Given the description of an element on the screen output the (x, y) to click on. 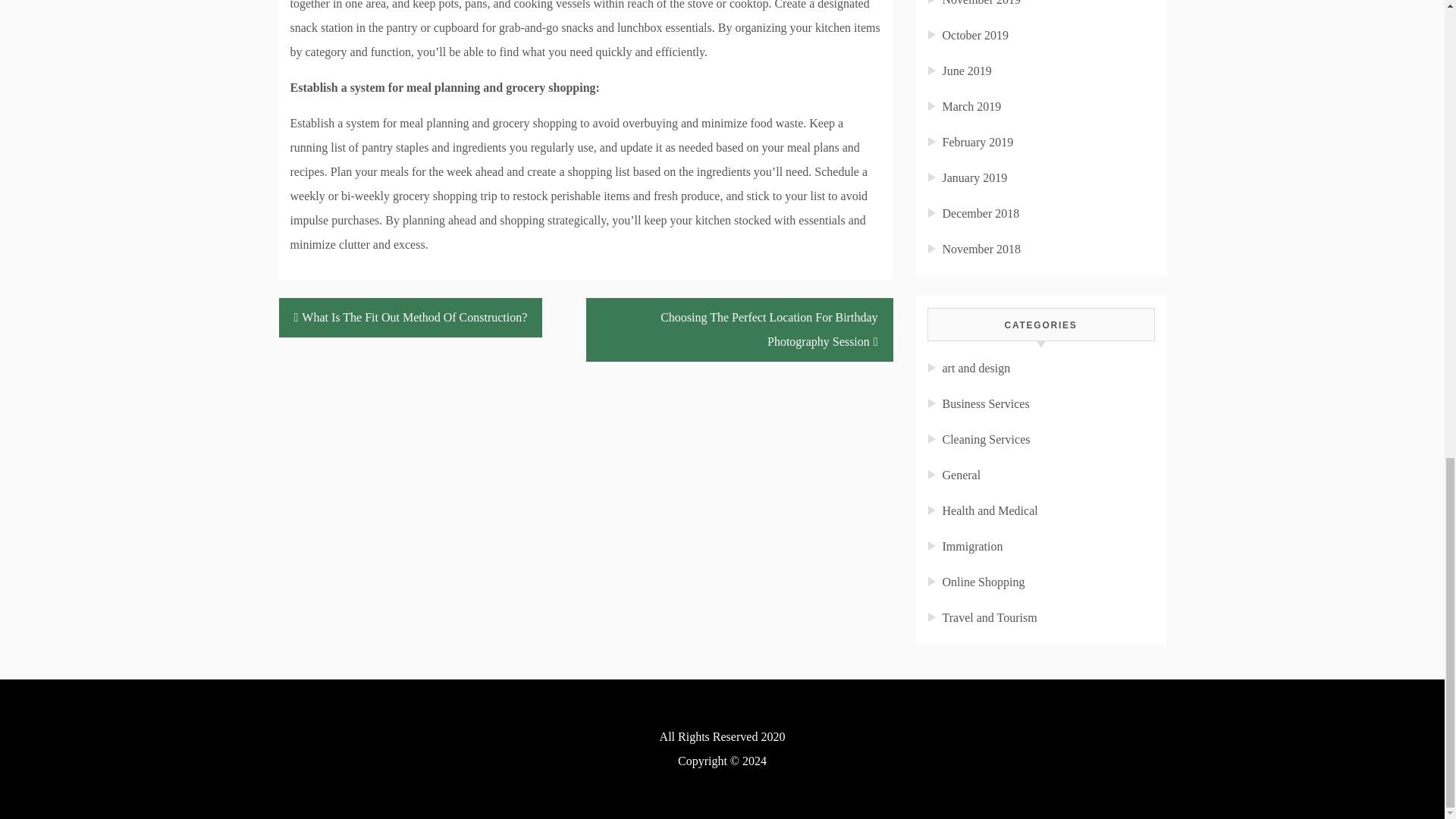
What Is The Fit Out Method Of Construction? (411, 317)
March 2019 (971, 106)
February 2019 (977, 141)
November 2019 (981, 2)
October 2019 (975, 34)
June 2019 (966, 70)
